Given the description of an element on the screen output the (x, y) to click on. 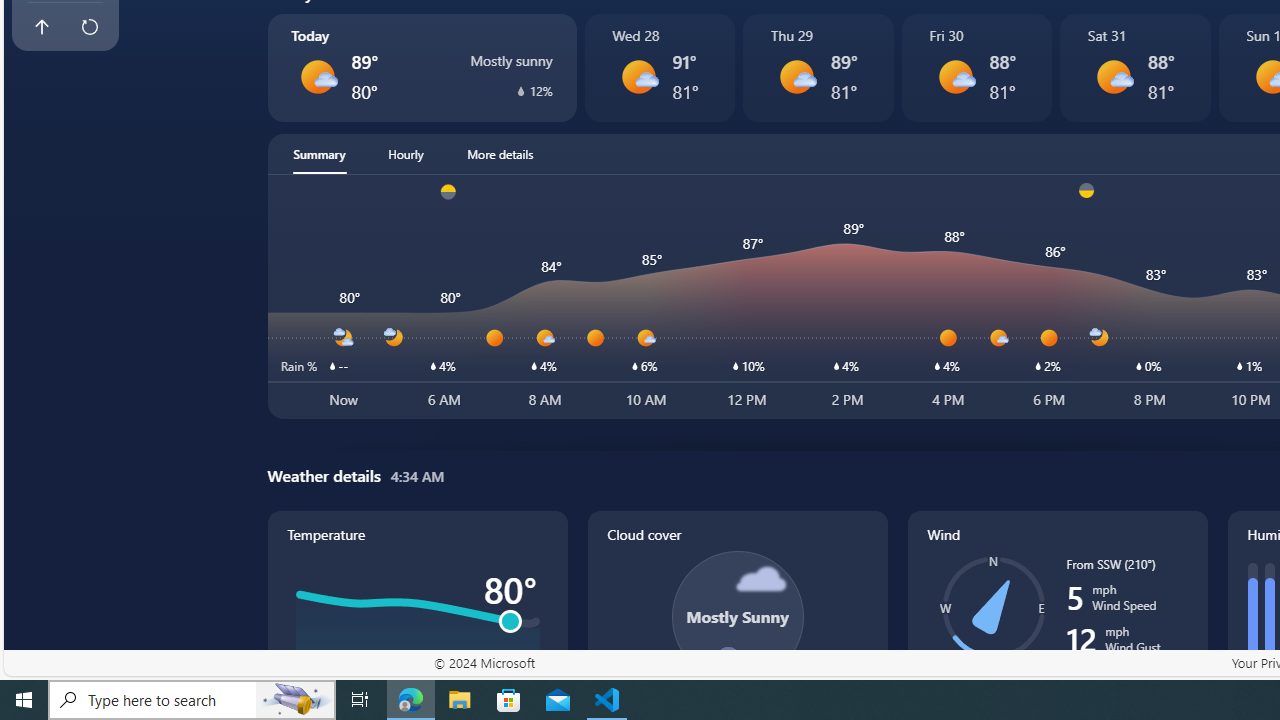
Class: cloudCoverSvg-DS-ps0R9q (736, 616)
Summary (319, 153)
Precipitation (520, 90)
